Given the description of an element on the screen output the (x, y) to click on. 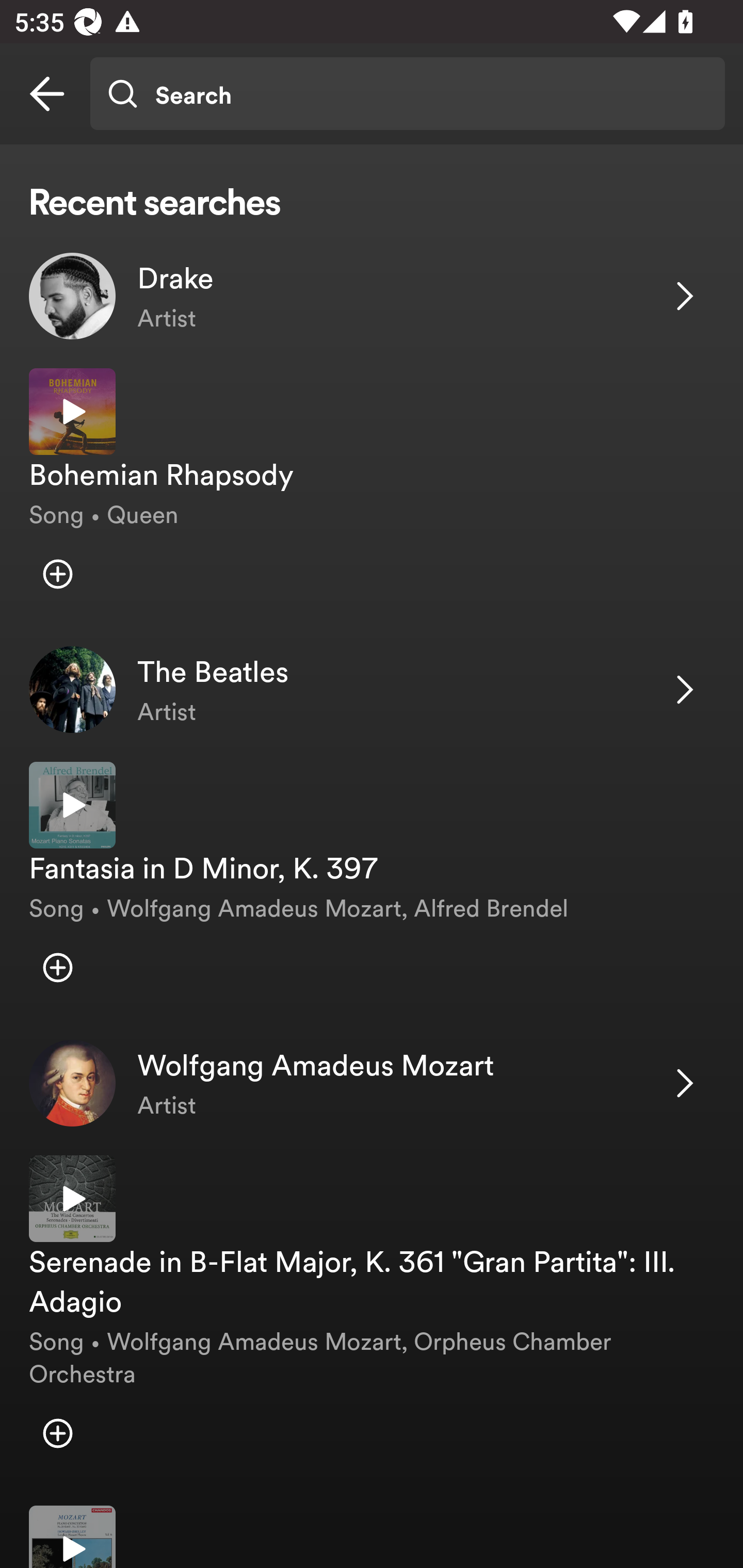
Back (46, 93)
Search (407, 94)
Drake Artist (371, 296)
Play preview (71, 411)
Add item (57, 573)
The Beatles Artist (371, 689)
Play preview (71, 805)
Add item (57, 967)
Wolfgang Amadeus Mozart Artist (371, 1083)
Play preview (71, 1198)
Add item (57, 1433)
Play preview (71, 1536)
